Given the description of an element on the screen output the (x, y) to click on. 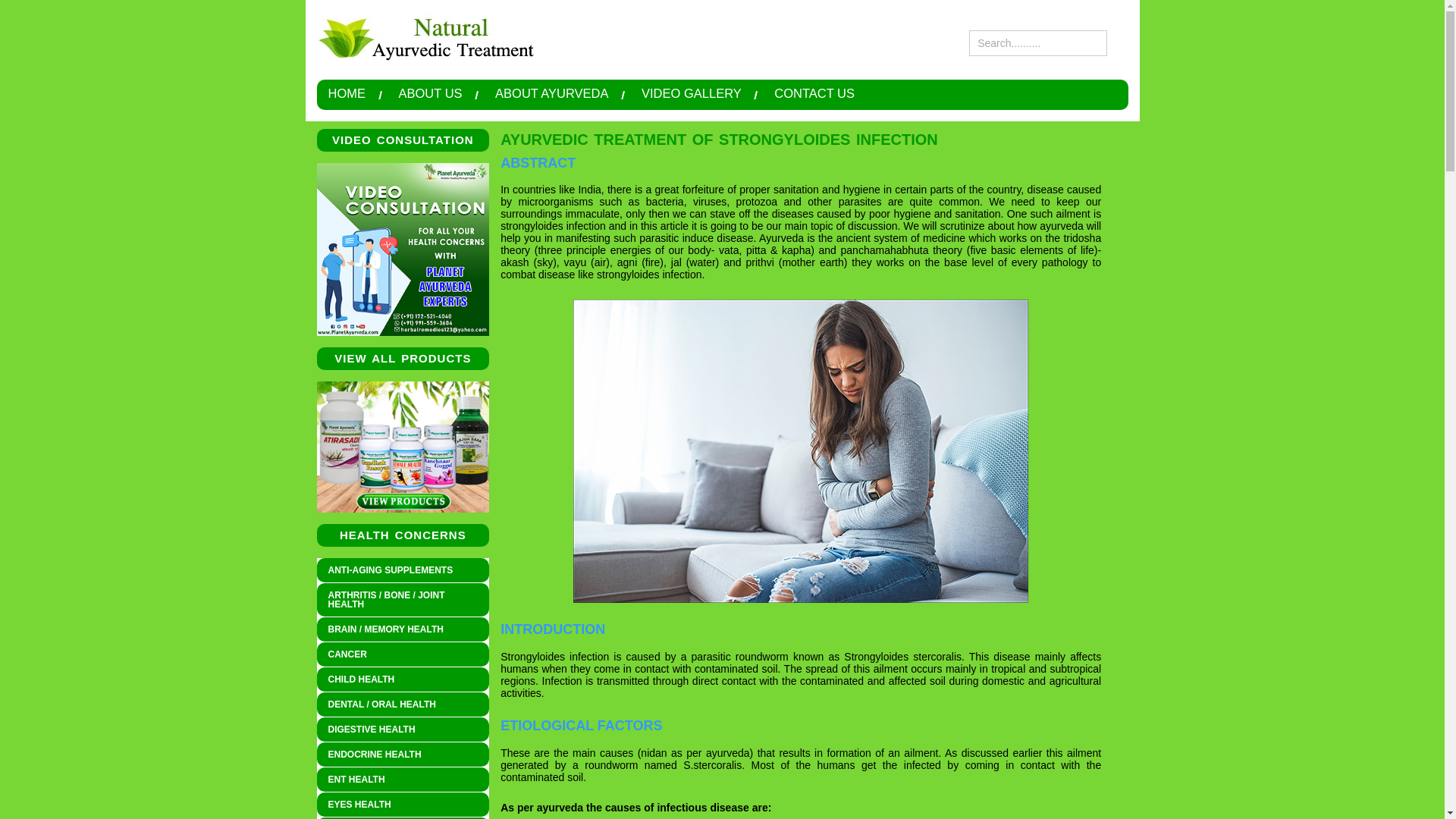
ABOUT US (430, 92)
Online Video Consultation (403, 248)
VIDEO GALLERY (691, 92)
ANTI-AGING SUPPLEMENTS (403, 569)
Search.......... (1037, 43)
ABOUT AYURVEDA (551, 92)
CANCER (403, 654)
Search.......... (1037, 43)
CONTACT US (814, 92)
HOME (346, 92)
View All Products (403, 447)
